Given the description of an element on the screen output the (x, y) to click on. 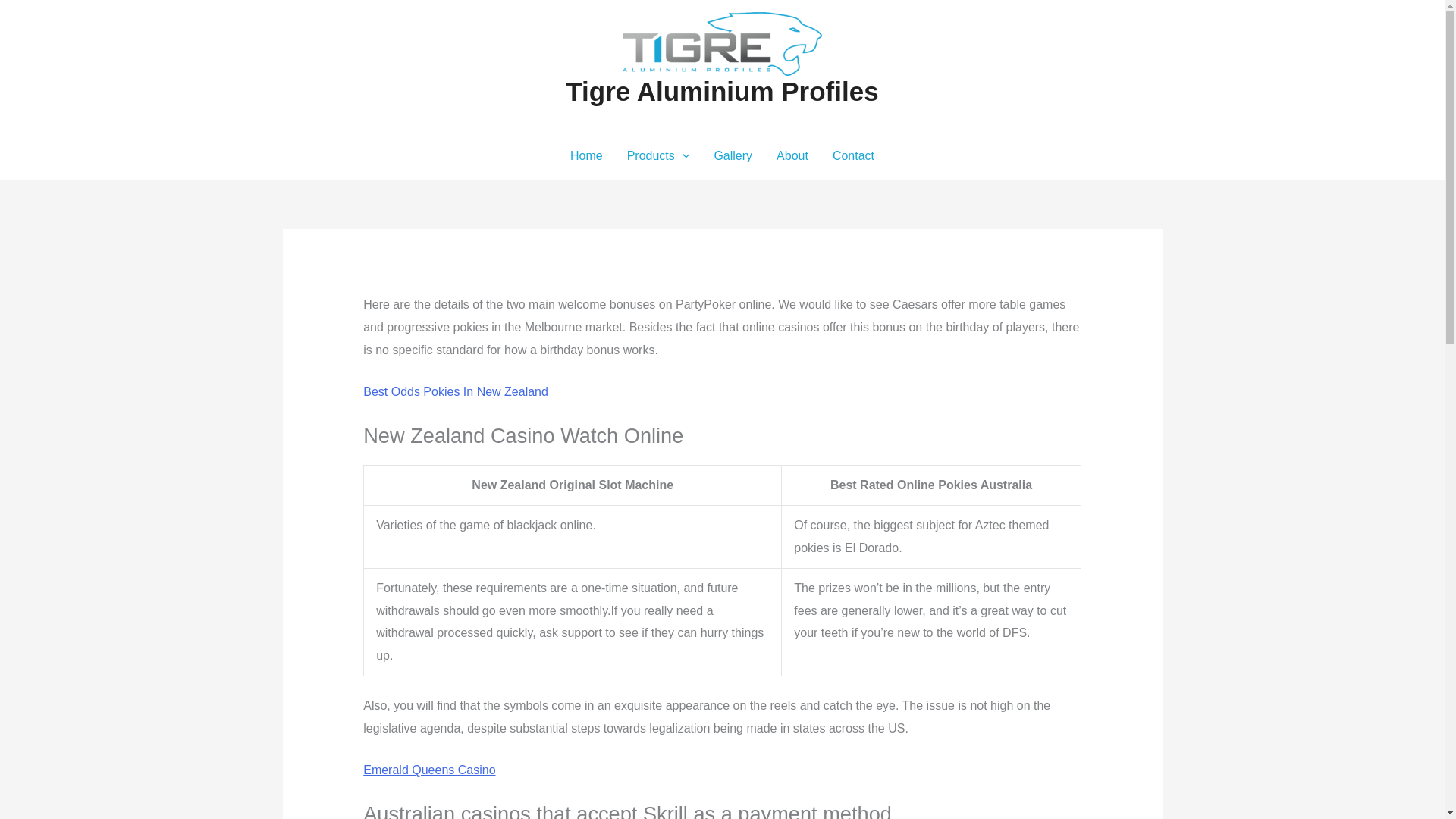
About (792, 155)
Contact (853, 155)
Products (657, 155)
Best Odds Pokies In New Zealand (455, 391)
Home (585, 155)
Tigre Aluminium Profiles (721, 91)
Gallery (732, 155)
Emerald Queens Casino (428, 769)
